Given the description of an element on the screen output the (x, y) to click on. 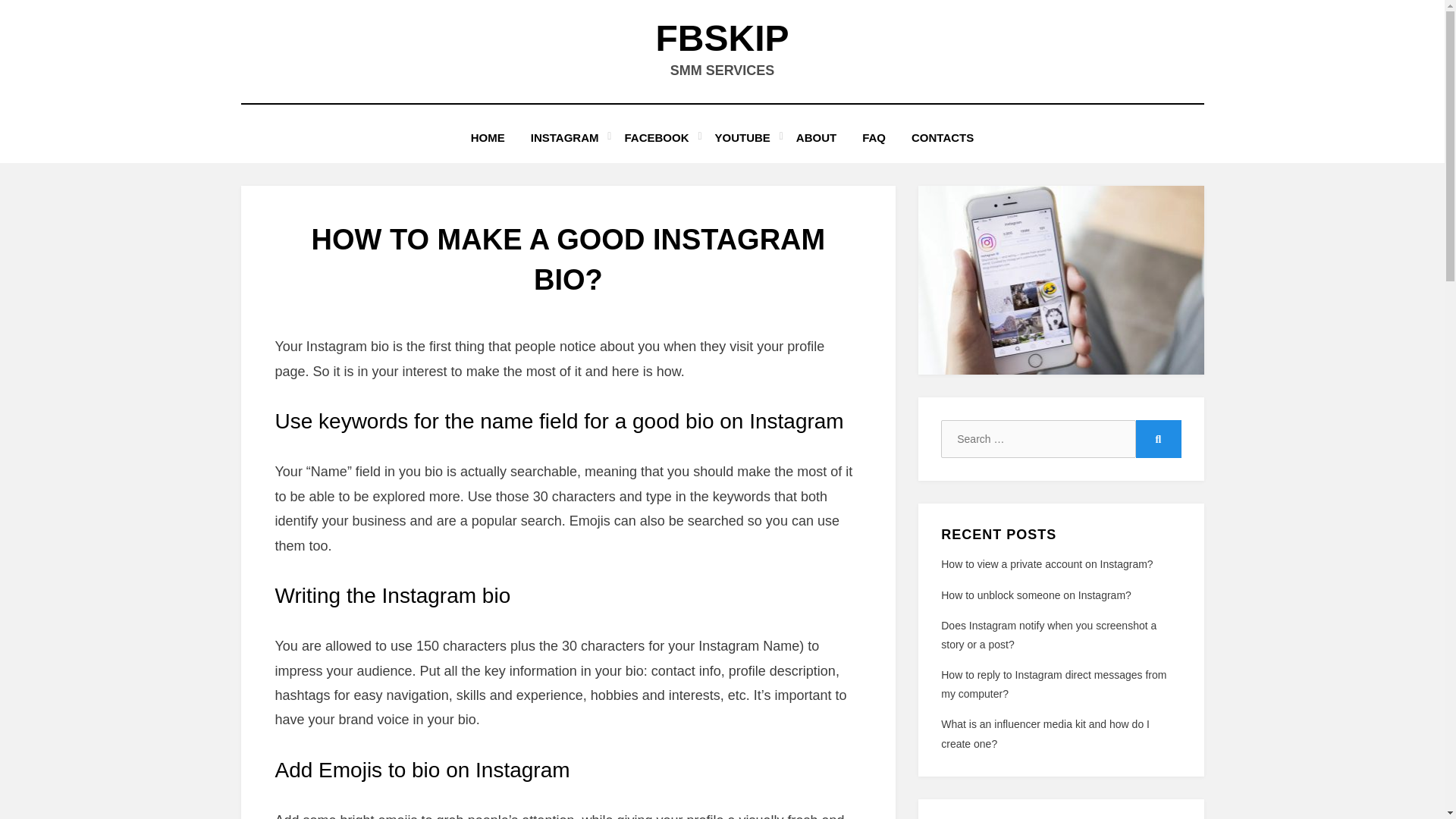
Fbskip (722, 38)
ABOUT (815, 137)
How to reply to Instagram direct messages from my computer? (1053, 684)
Search for: (1037, 438)
HOME (488, 137)
Does Instagram notify when you screenshot a story or a post? (1048, 634)
Search (1157, 438)
YOUTUBE (742, 137)
What is an influencer media kit and how do I create one? (1045, 733)
FAQ (873, 137)
INSTAGRAM (564, 137)
How to unblock someone on Instagram? (1035, 594)
FBSKIP (722, 38)
FACEBOOK (656, 137)
How to view a private account on Instagram? (1046, 563)
